Given the description of an element on the screen output the (x, y) to click on. 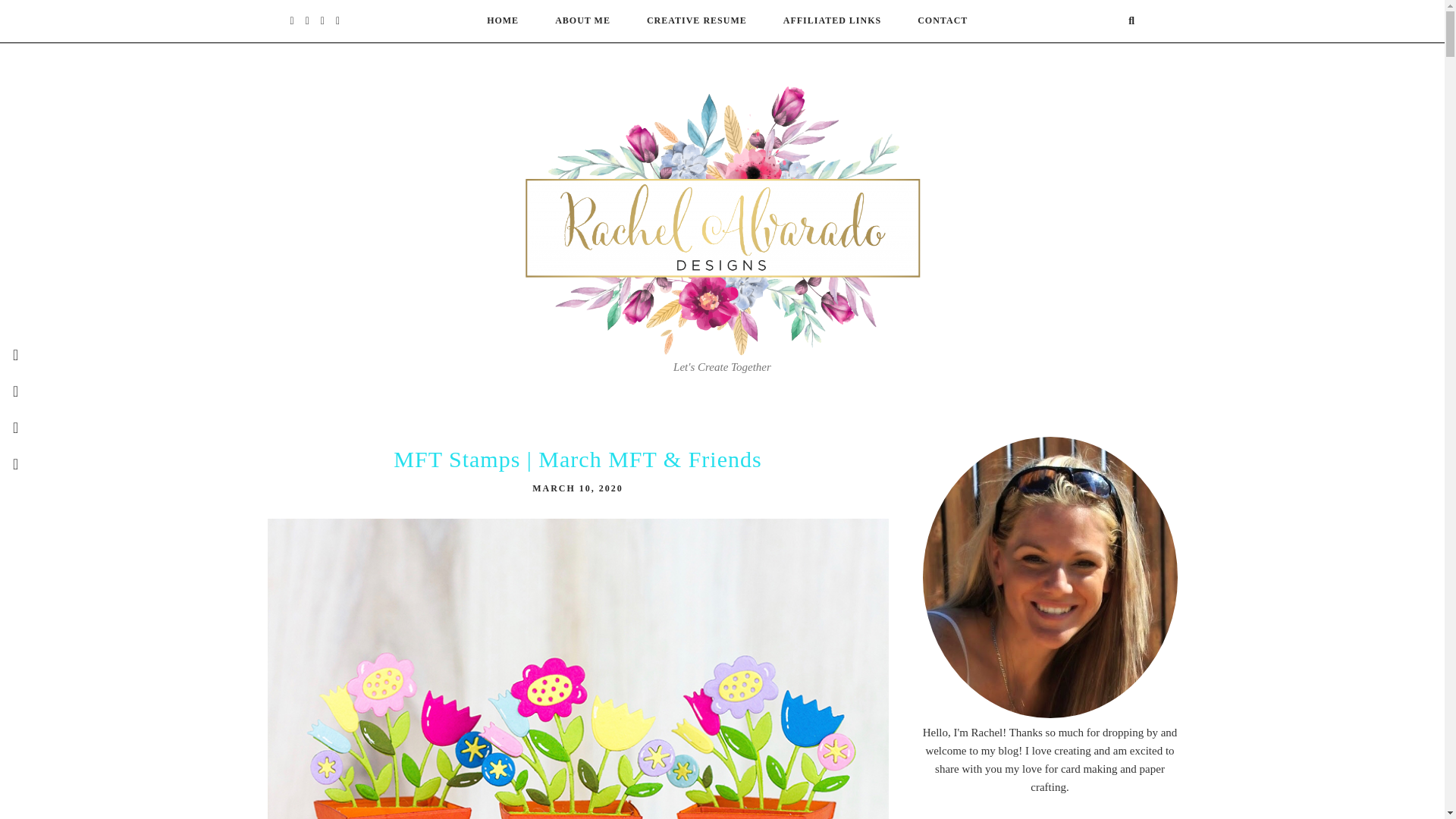
CONTACT (942, 20)
AFFILIATED LINKS (831, 20)
ABOUT ME (582, 20)
CREATIVE RESUME (696, 20)
HOME (502, 20)
